Given the description of an element on the screen output the (x, y) to click on. 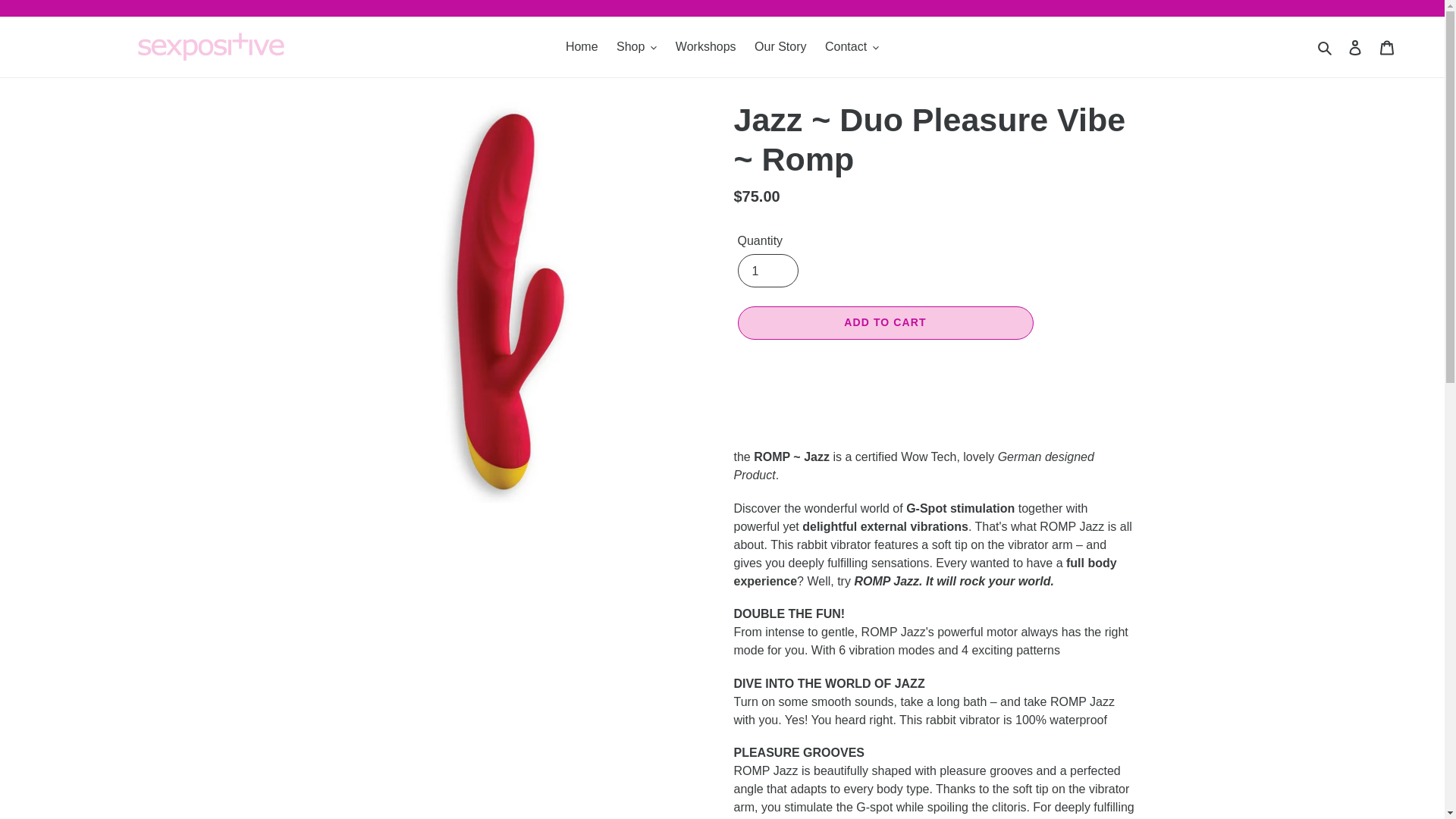
Cart (1387, 46)
Home (581, 47)
Contact (851, 47)
Search (1326, 46)
Workshops (706, 47)
Log in (1355, 46)
Shop (635, 47)
1 (766, 270)
My Account (1355, 46)
Search (1326, 46)
